Given the description of an element on the screen output the (x, y) to click on. 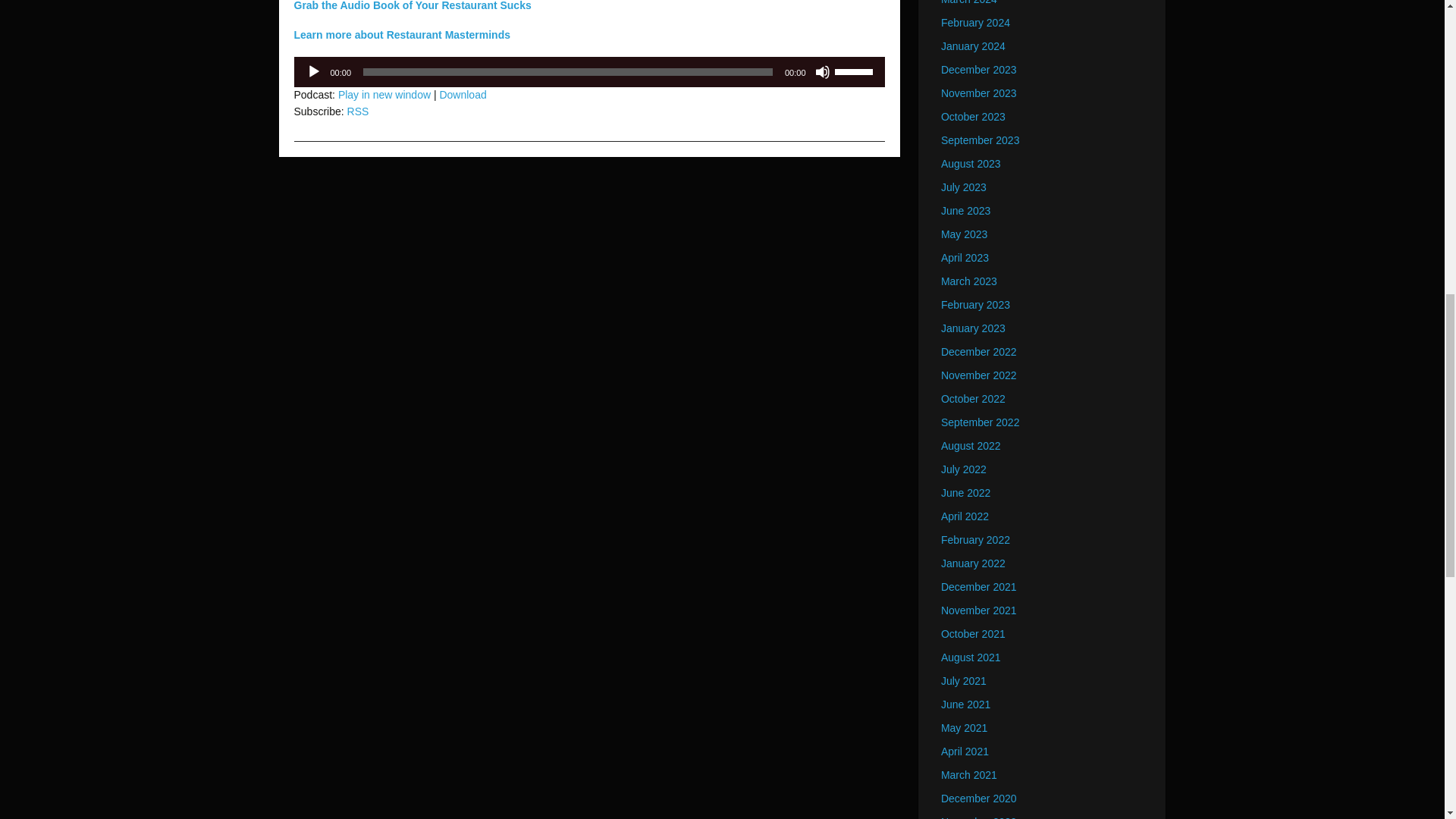
Mute (821, 71)
Play in new window (383, 94)
Grab the Audio Book of Your Restaurant Sucks (412, 5)
Learn more about Restaurant Masterminds (402, 34)
Play in new window (383, 94)
RSS (358, 111)
Subscribe via RSS (358, 111)
Download (462, 94)
Download (462, 94)
Play (313, 71)
